Given the description of an element on the screen output the (x, y) to click on. 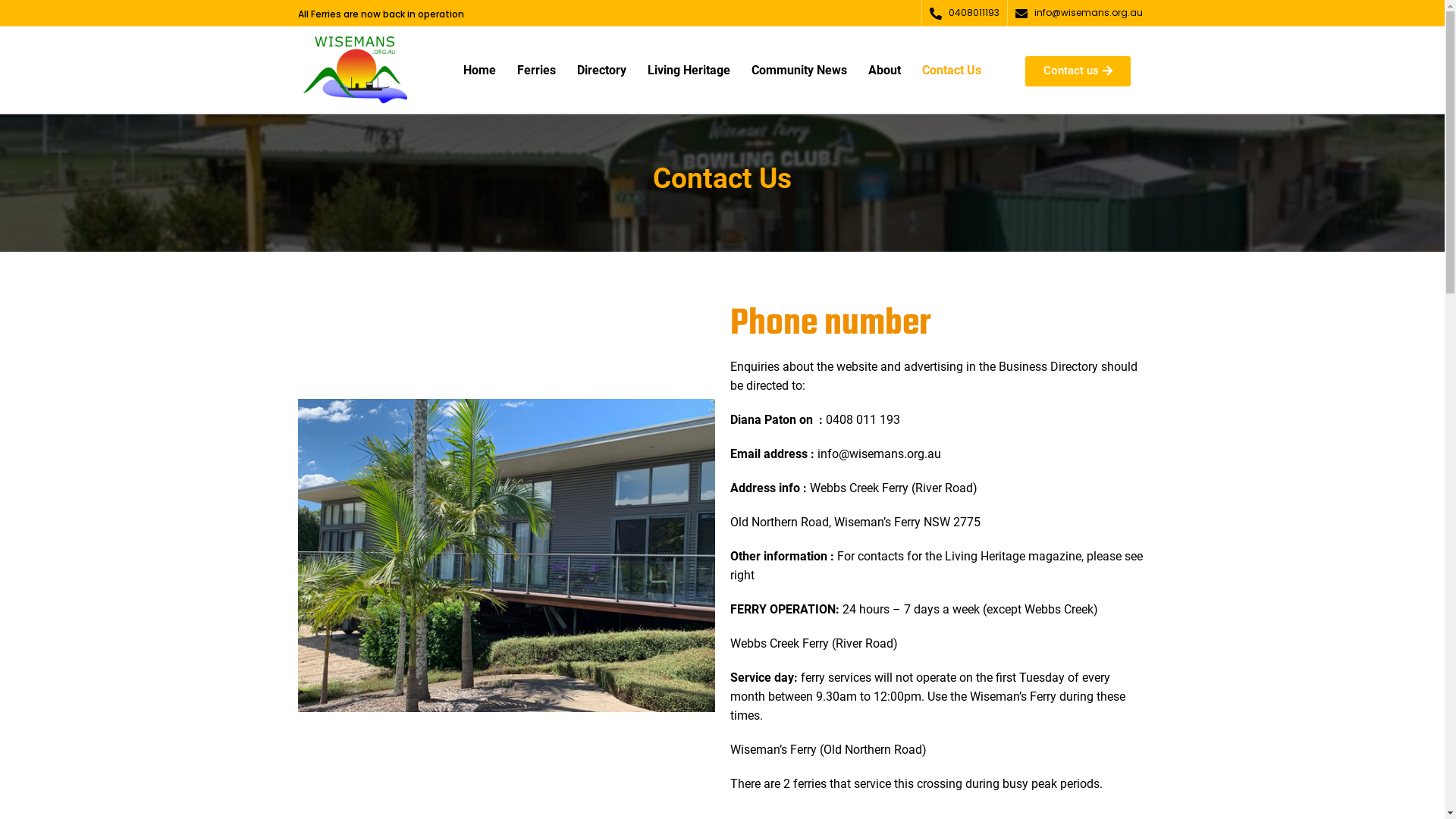
Home Element type: text (479, 70)
Community News Element type: text (798, 70)
Living Heritage Element type: text (688, 70)
0408011193 Element type: text (973, 12)
Directory Element type: text (601, 70)
Ferries Element type: text (536, 70)
Contact us Element type: text (1077, 71)
About Element type: text (884, 70)
Contact Us Element type: text (951, 70)
info@wisemans.org.au Element type: text (1088, 12)
